Given the description of an element on the screen output the (x, y) to click on. 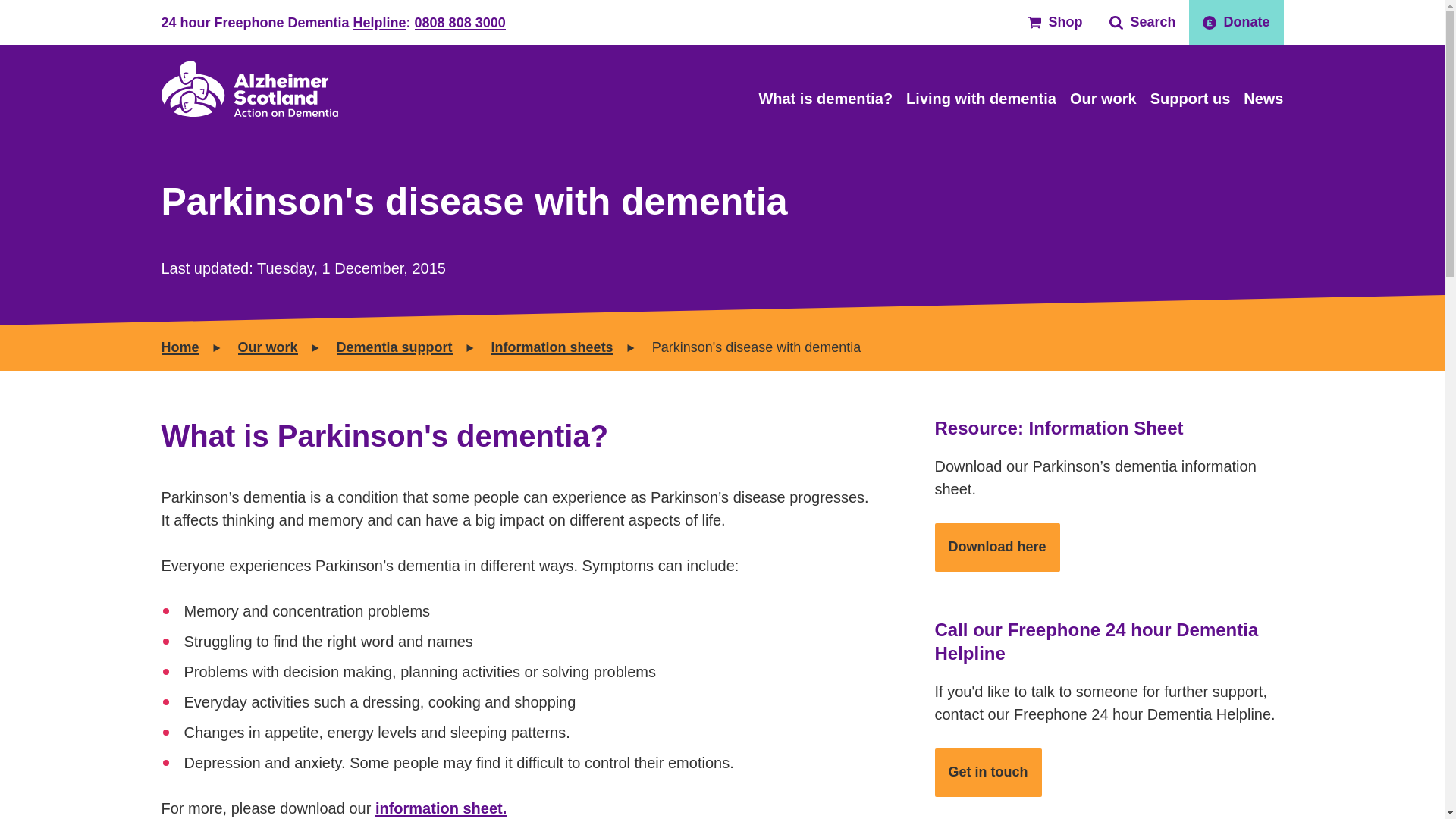
Helpline (379, 22)
Donate (1235, 22)
Home (248, 88)
Support us (1190, 98)
Download here (996, 547)
Information sheets (552, 346)
What is dementia? (825, 98)
Our work (268, 346)
0808 808 3000 (459, 22)
